Given the description of an element on the screen output the (x, y) to click on. 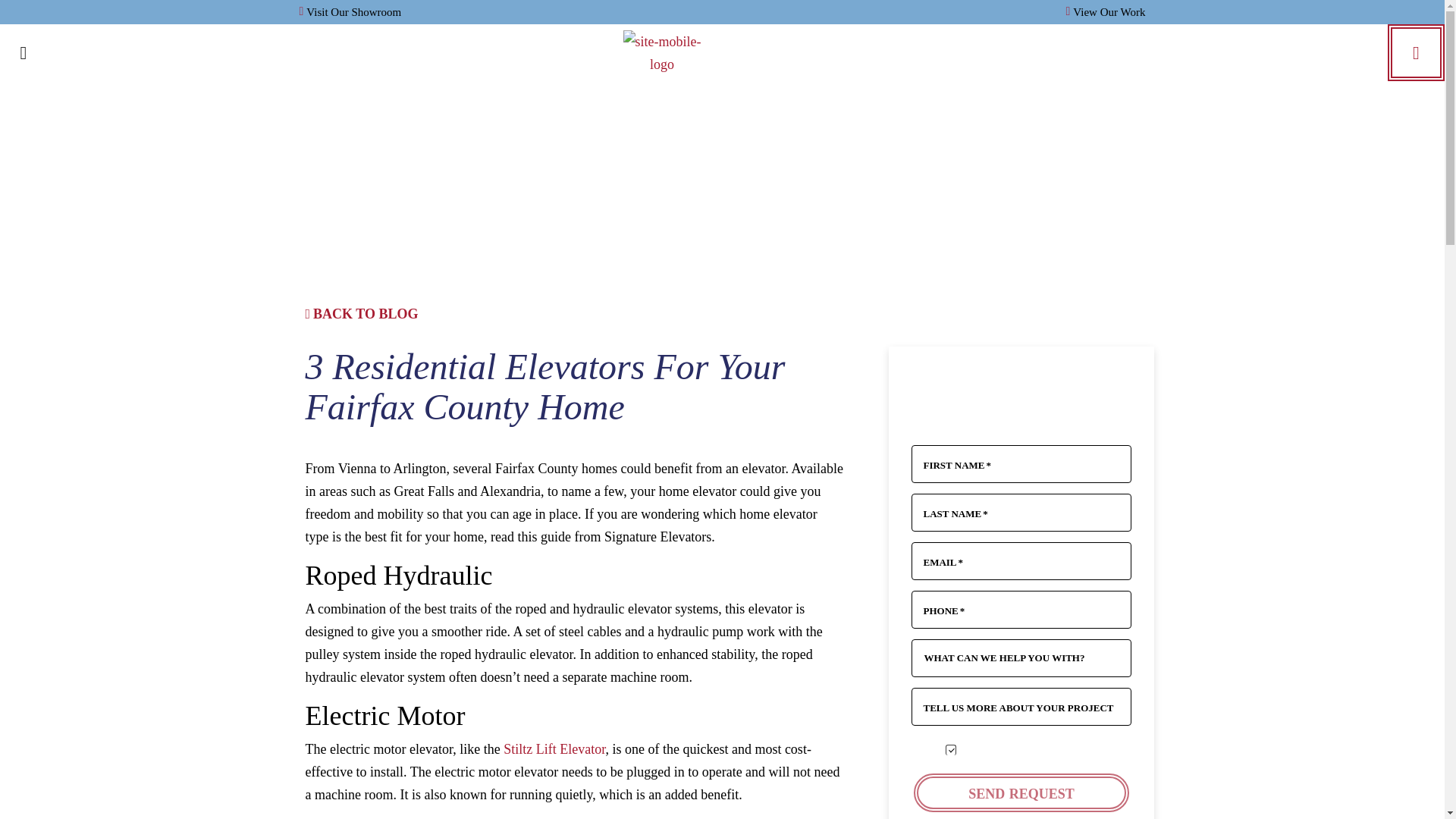
Visit Our Showroom (349, 11)
View Our Work (1105, 11)
View Our Work (1105, 11)
Yes, sign me up for emails! (950, 749)
Visit Our Showroom (349, 11)
